Given the description of an element on the screen output the (x, y) to click on. 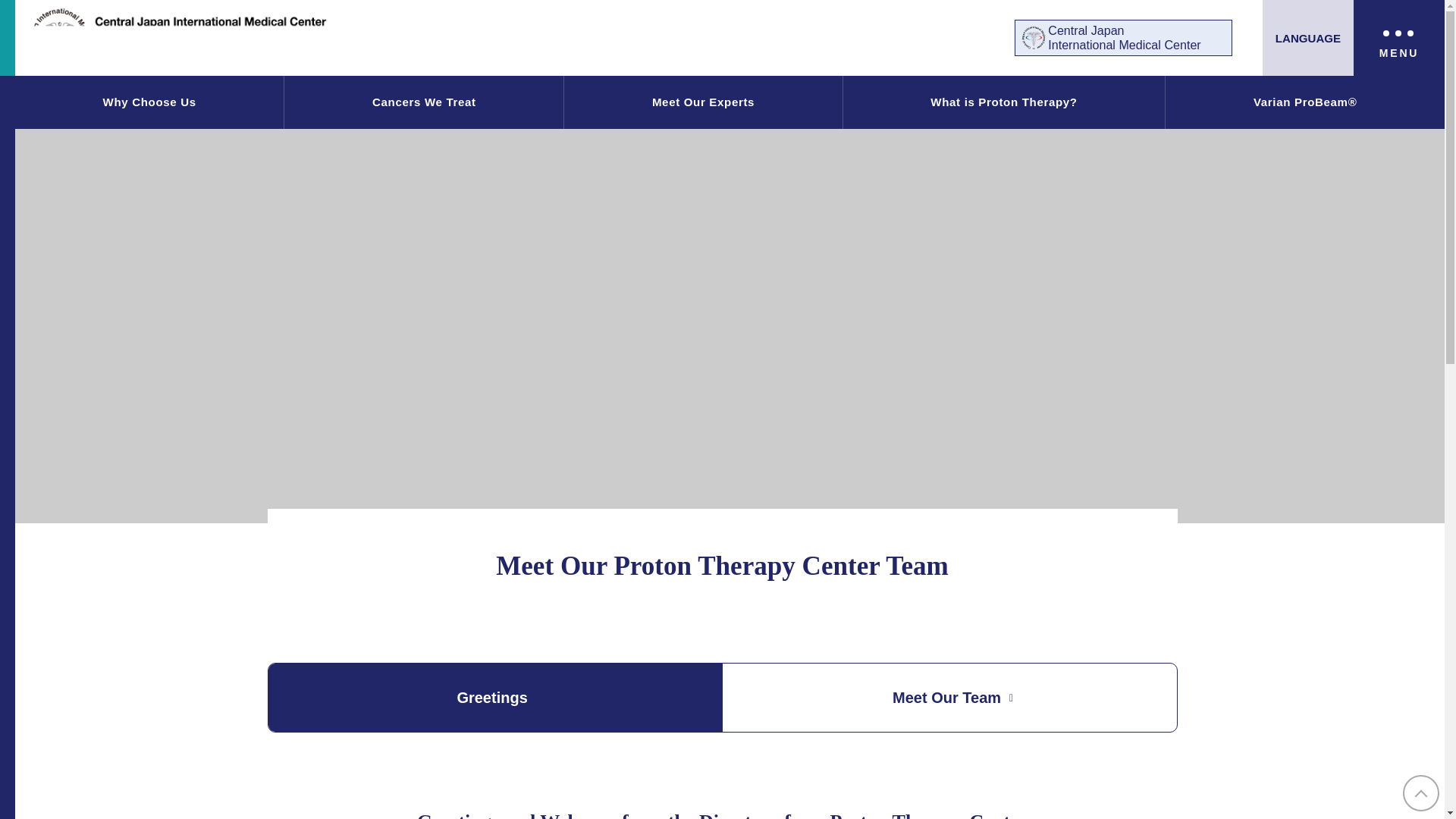
Meet Our Experts (702, 102)
LANGUAGE (1308, 38)
Cancers We Treat (423, 102)
Greetings (494, 697)
What is Proton Therapy? (1004, 102)
Why Choose Us (148, 102)
Meet Our Team (1122, 37)
